Given the description of an element on the screen output the (x, y) to click on. 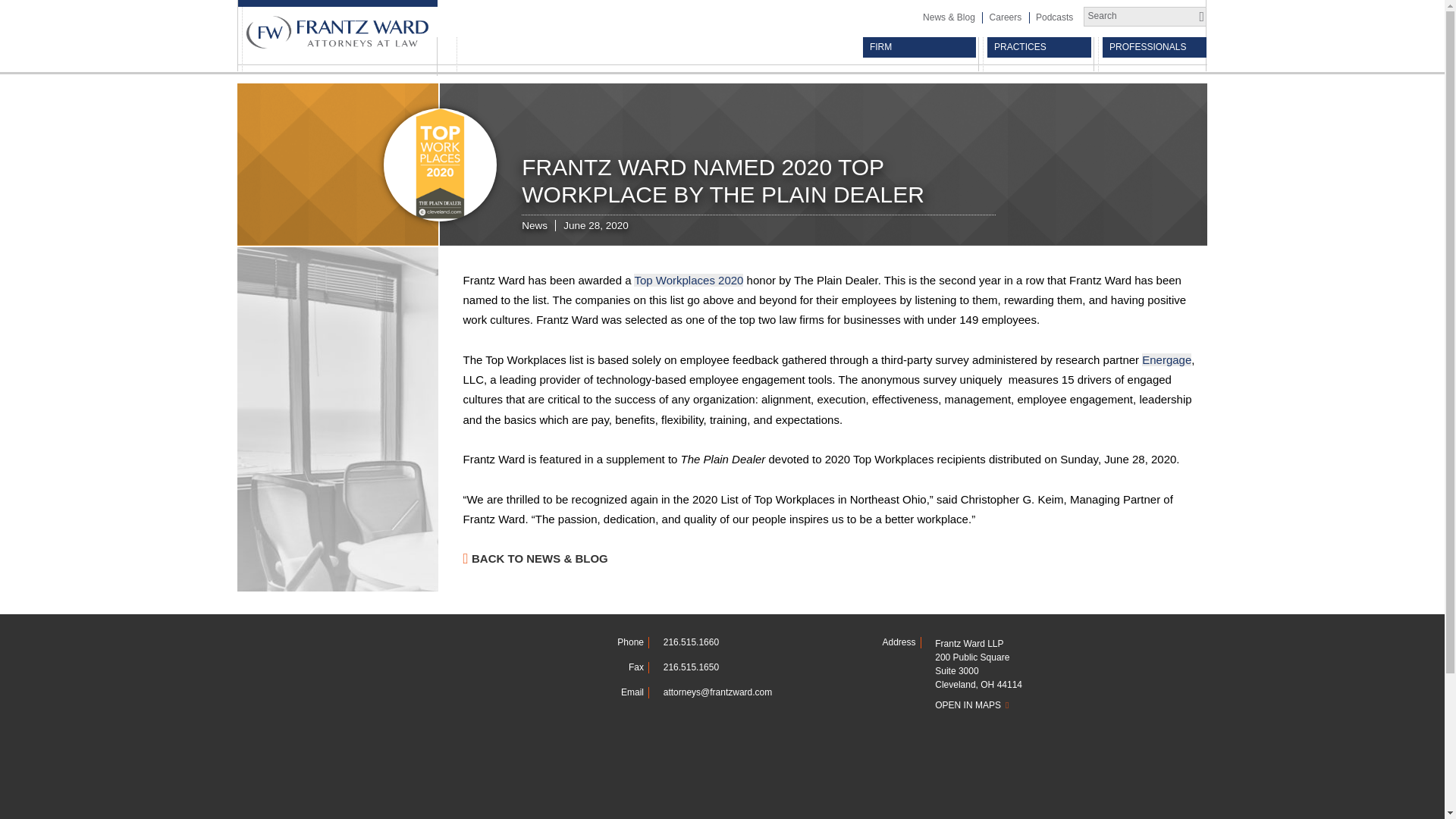
PROFESSIONALS (1154, 46)
PRACTICES (1038, 46)
Energage (1166, 359)
Careers (1004, 17)
216.515.1650 (691, 666)
216.515.1660 (691, 642)
Podcasts (1053, 17)
Top Workplaces 2020 (687, 279)
FIRM (919, 46)
OPEN IN MAPS (1010, 704)
Form 0 (449, 728)
